Given the description of an element on the screen output the (x, y) to click on. 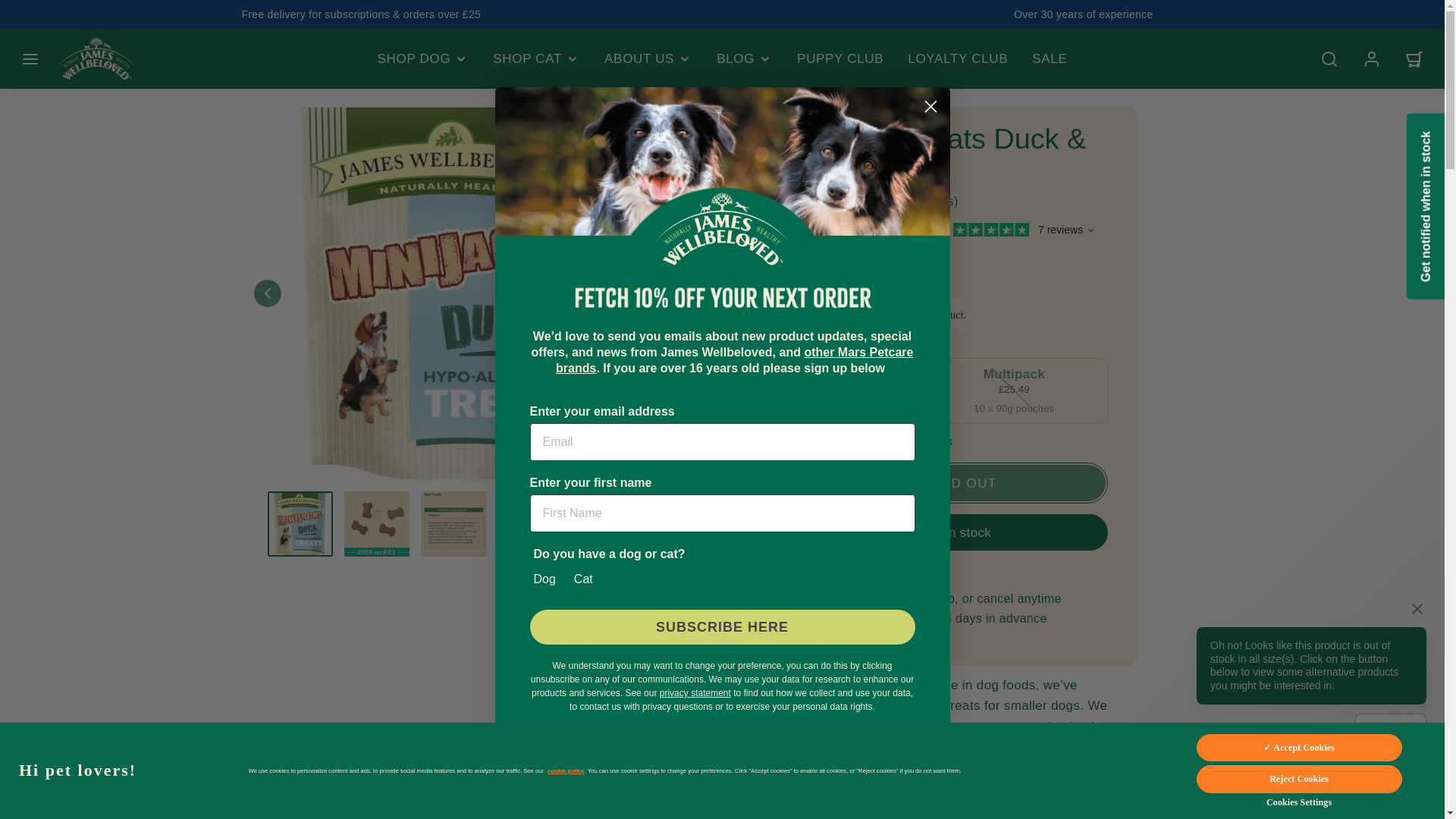
BLOG (744, 58)
SEARCH (1329, 58)
SHOP DOG (423, 58)
SALE (1049, 58)
LOYALTY CLUB (957, 58)
PUPPY CLUB (839, 58)
MENU (29, 58)
ACCOUNT (1372, 58)
SHOP CAT (536, 58)
ABOUT US (648, 58)
